Given the description of an element on the screen output the (x, y) to click on. 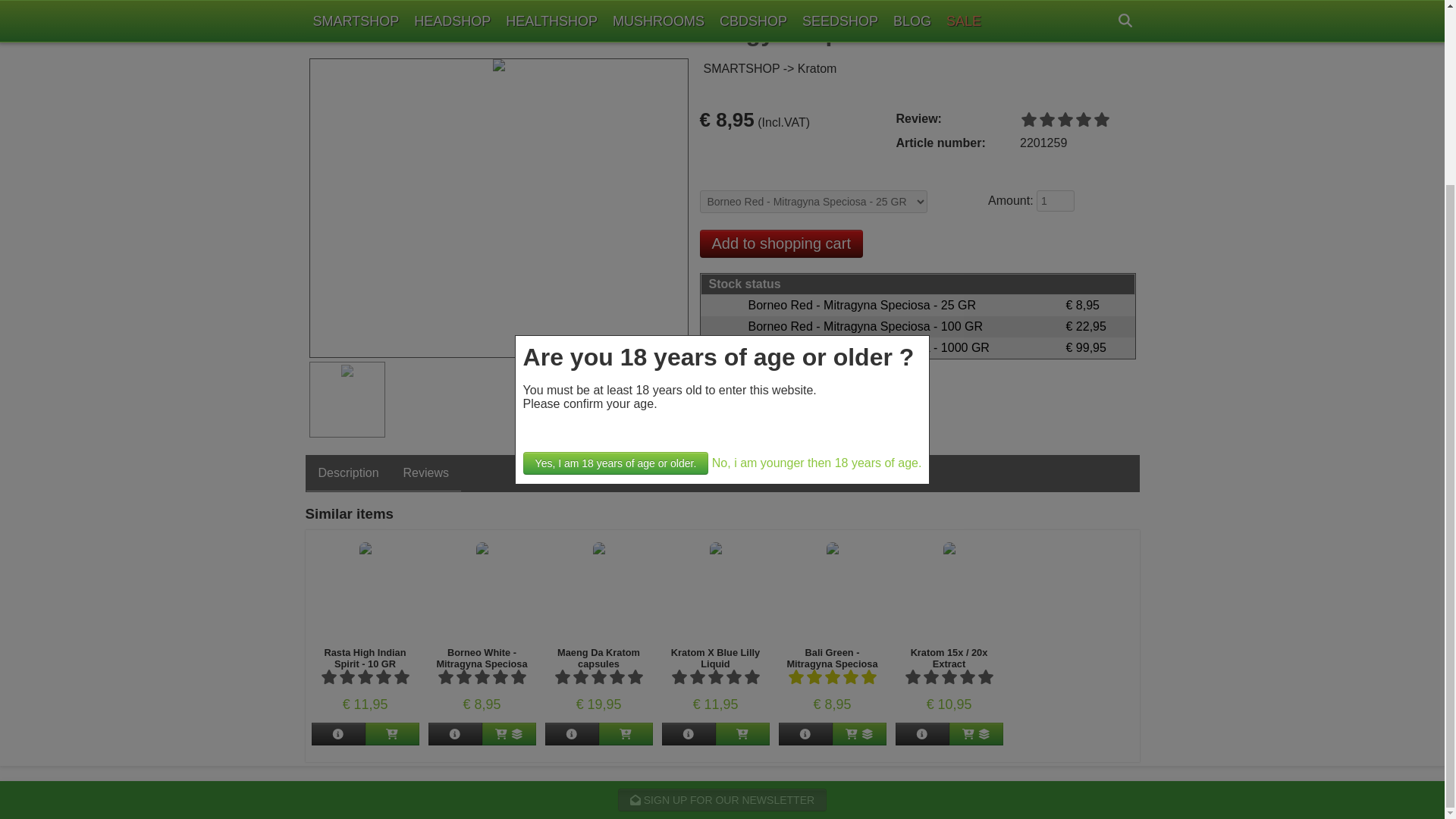
No, i am younger then 18 years of age. (816, 233)
Yes, I am 18 years of age or older. (615, 233)
1 (1055, 200)
In stock (917, 305)
In stock (917, 326)
In stock (917, 347)
